Given the description of an element on the screen output the (x, y) to click on. 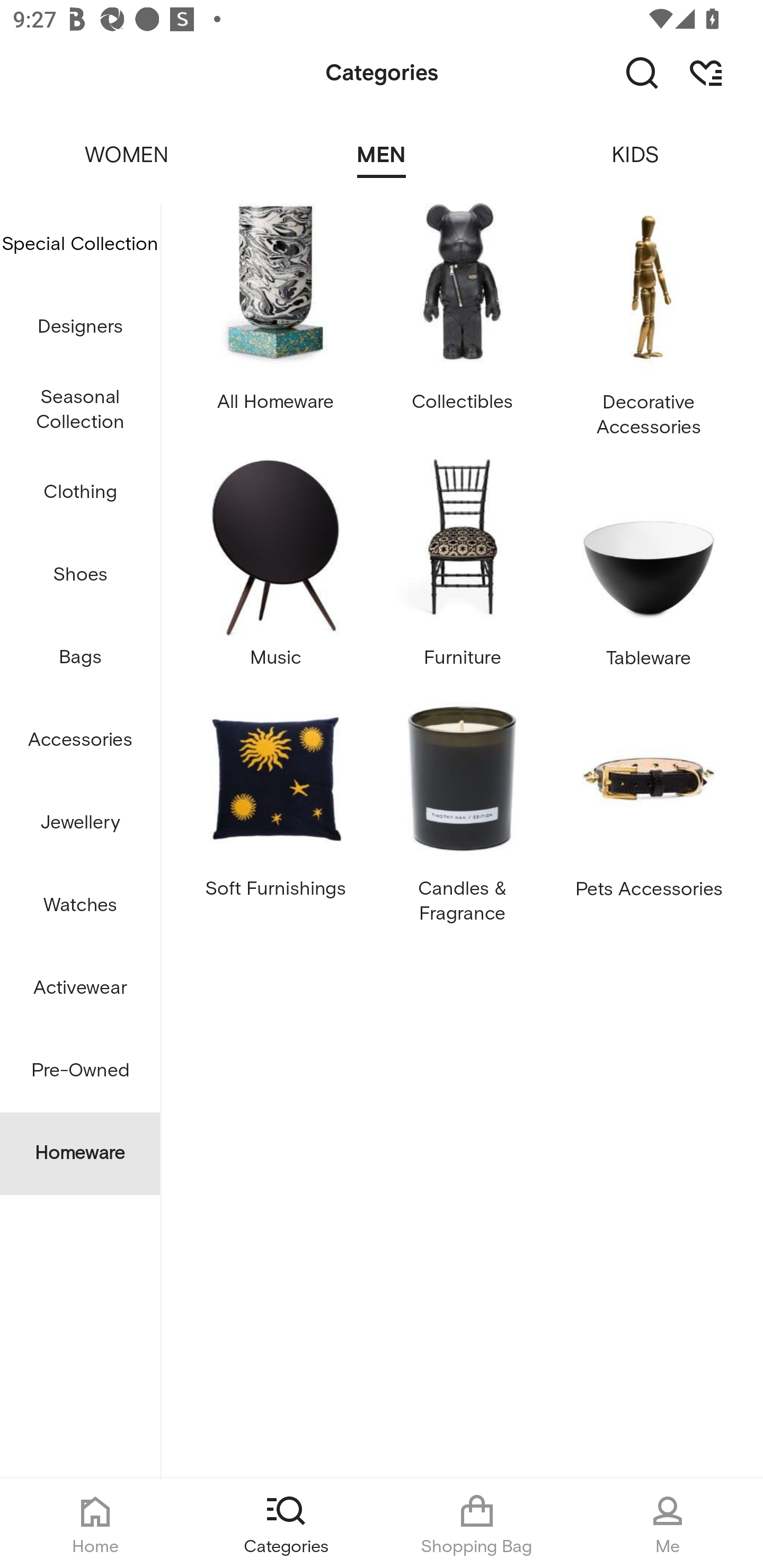
WOMEN (127, 143)
KIDS (635, 143)
Special Collection (80, 244)
All Homeware (274, 326)
Collectibles (461, 326)
Decorative Accessories (648, 326)
Designers (80, 326)
Seasonal Collection (80, 409)
Clothing (80, 492)
Music (274, 569)
Furniture (461, 569)
Tableware (648, 569)
Shoes (80, 575)
Bags (80, 657)
Soft Furnishings (274, 812)
Candles & Fragrance (461, 812)
Pets Accessories (648, 812)
Accessories (80, 740)
Jewellery (80, 822)
Watches (80, 905)
Activewear (80, 988)
Pre-Owned (80, 1070)
Homeware (80, 1152)
Home (95, 1523)
Shopping Bag (476, 1523)
Me (667, 1523)
